Given the description of an element on the screen output the (x, y) to click on. 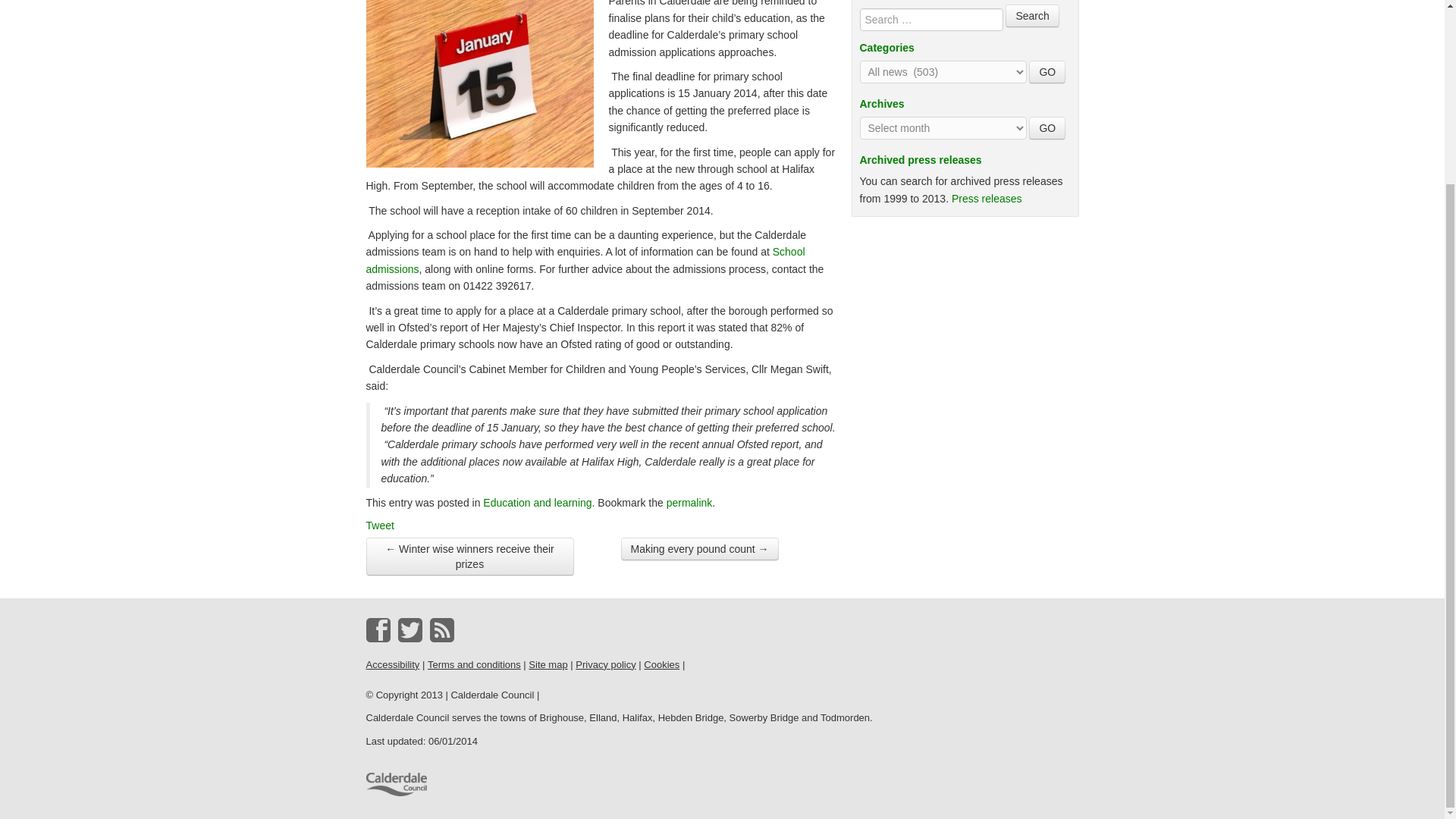
GO (1047, 71)
permalink (689, 502)
Tweet (379, 525)
Site map (547, 664)
Press releases (987, 198)
Facebook (377, 630)
Permalink to Time running out for primary applications (689, 502)
Search (1032, 15)
GO (1047, 71)
RSS (440, 630)
Twitter (409, 630)
GO (1047, 128)
Accessibility (392, 664)
Education and learning (537, 502)
Search (1032, 15)
